Given the description of an element on the screen output the (x, y) to click on. 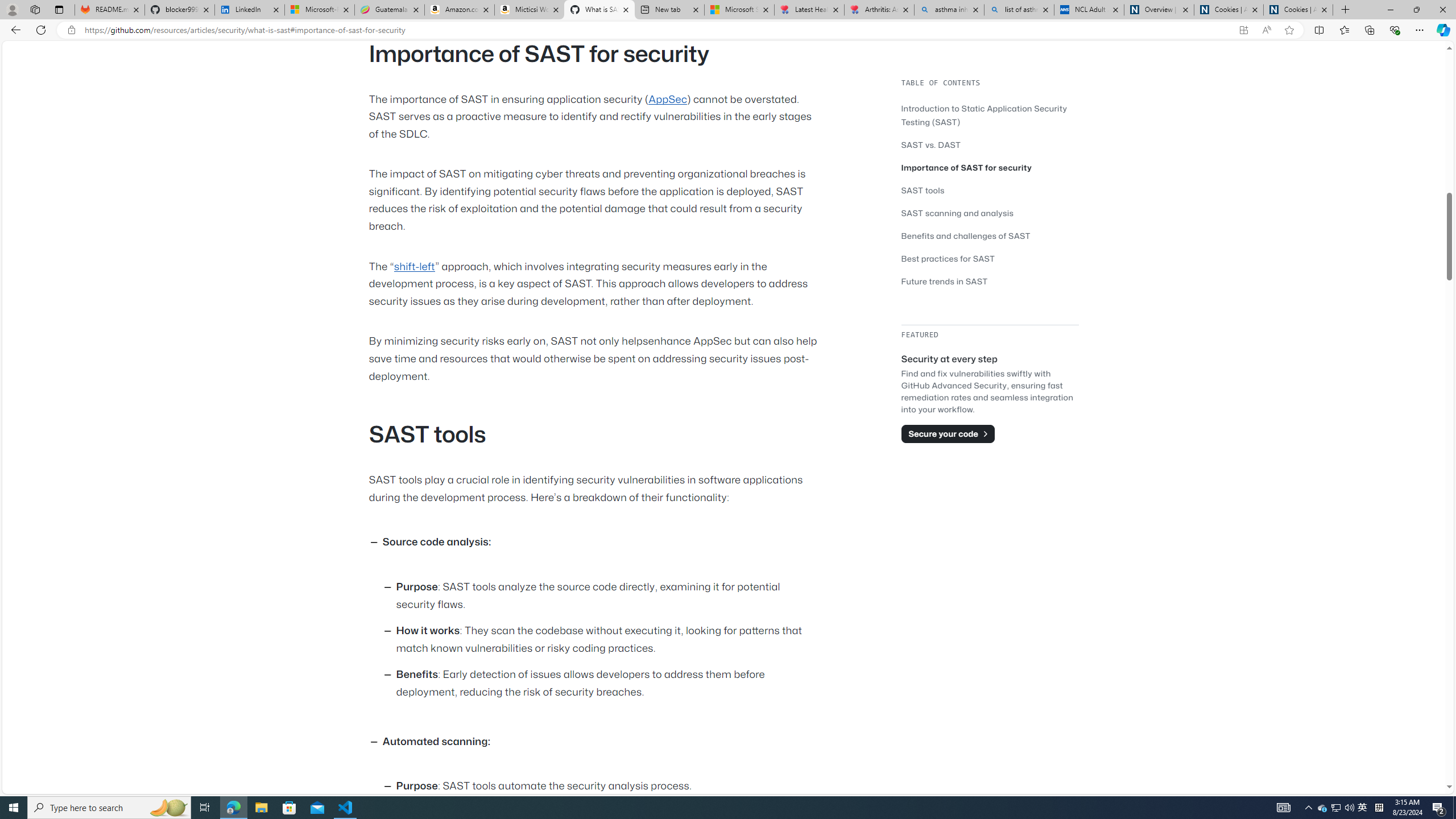
SAST scanning and analysis (989, 212)
Importance of SAST for security (966, 166)
Importance of SAST for security (989, 167)
